Given the description of an element on the screen output the (x, y) to click on. 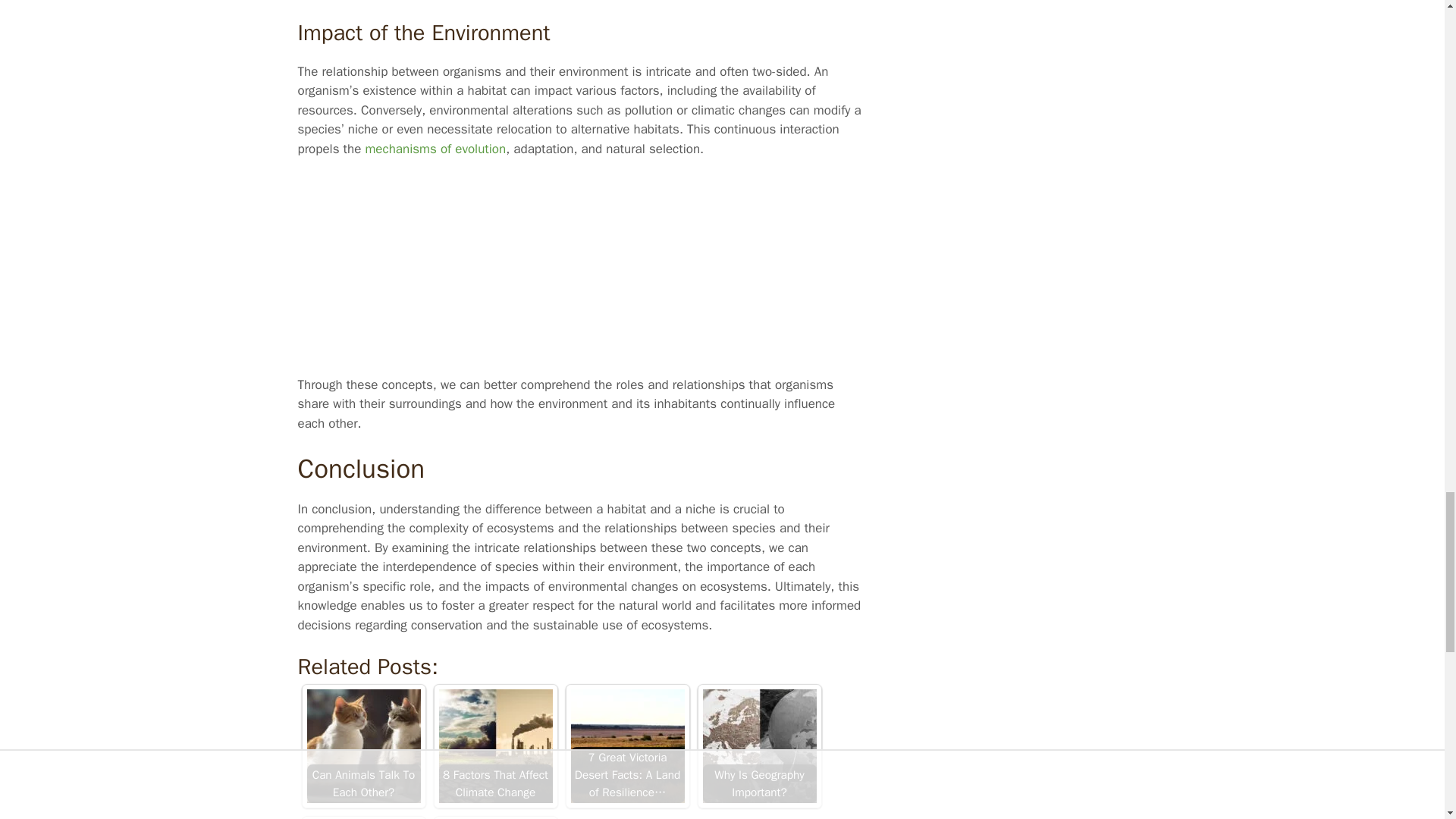
Why Is Geography Important? (758, 746)
8 Factors That Affect Climate Change (494, 746)
Why Is Geography Important? (758, 746)
8 Factors That Affect Climate Change (494, 746)
mechanisms of evolution (435, 148)
Can Animals Talk To Each Other? (362, 746)
Can Animals Talk To Each Other? (362, 746)
